Given the description of an element on the screen output the (x, y) to click on. 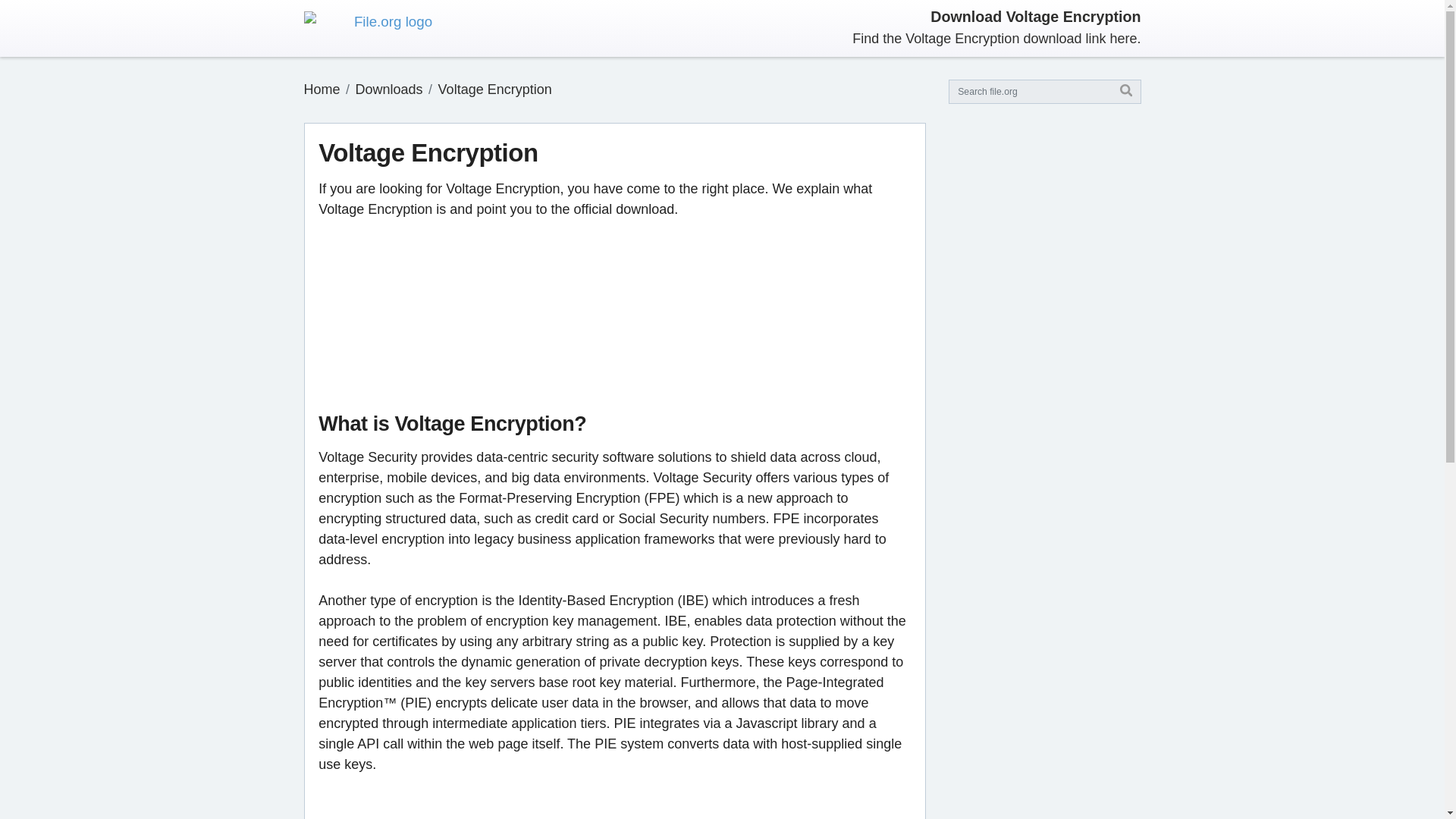
Voltage Encryption (494, 89)
Downloads (389, 89)
Home (320, 89)
Downloads (389, 89)
File.org (320, 89)
Voltage Encryption (494, 89)
